Given the description of an element on the screen output the (x, y) to click on. 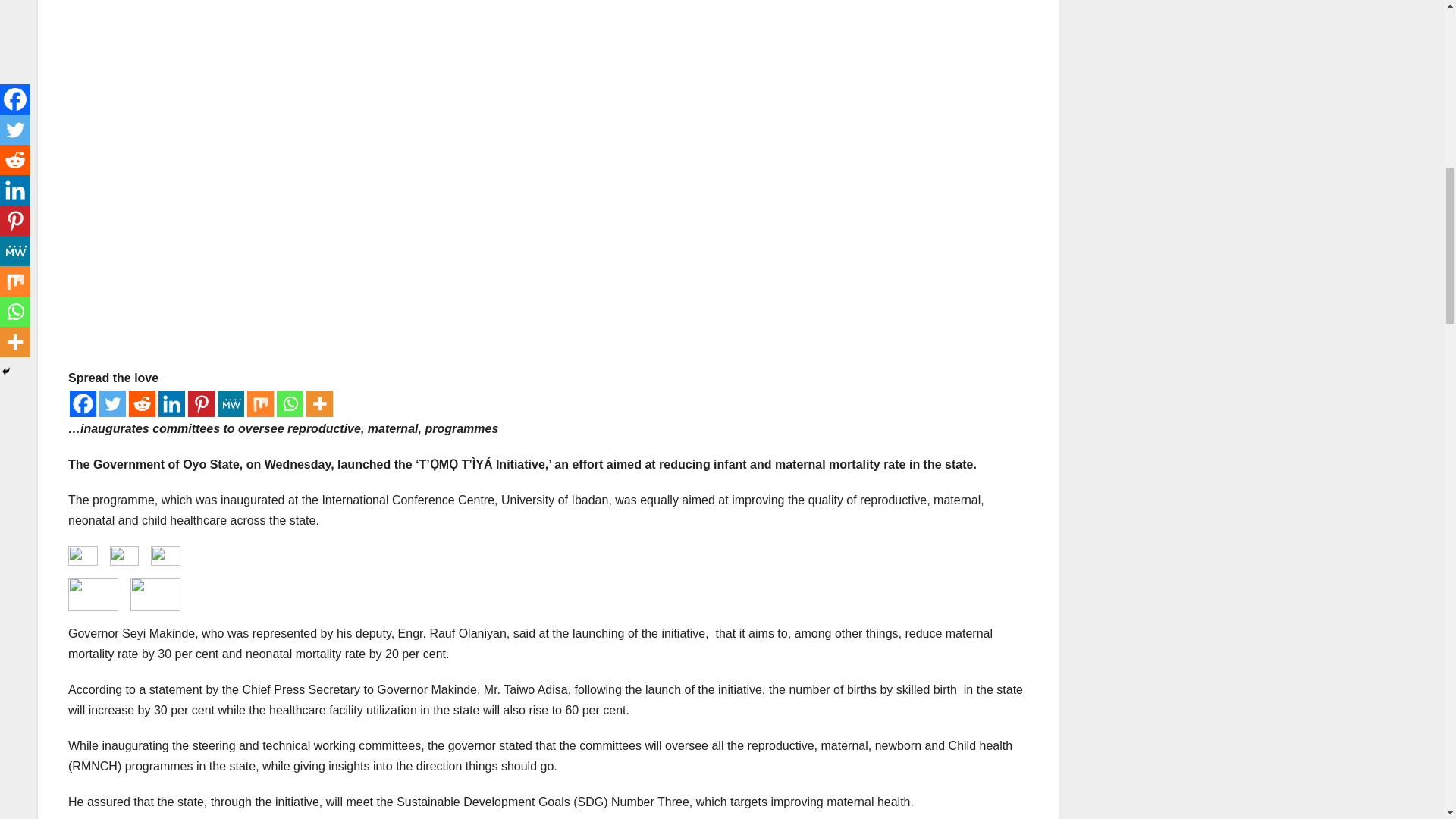
Facebook (82, 403)
Reddit (142, 403)
Linkedin (171, 403)
Twitter (112, 403)
MeWe (230, 403)
Pinterest (200, 403)
